Given the description of an element on the screen output the (x, y) to click on. 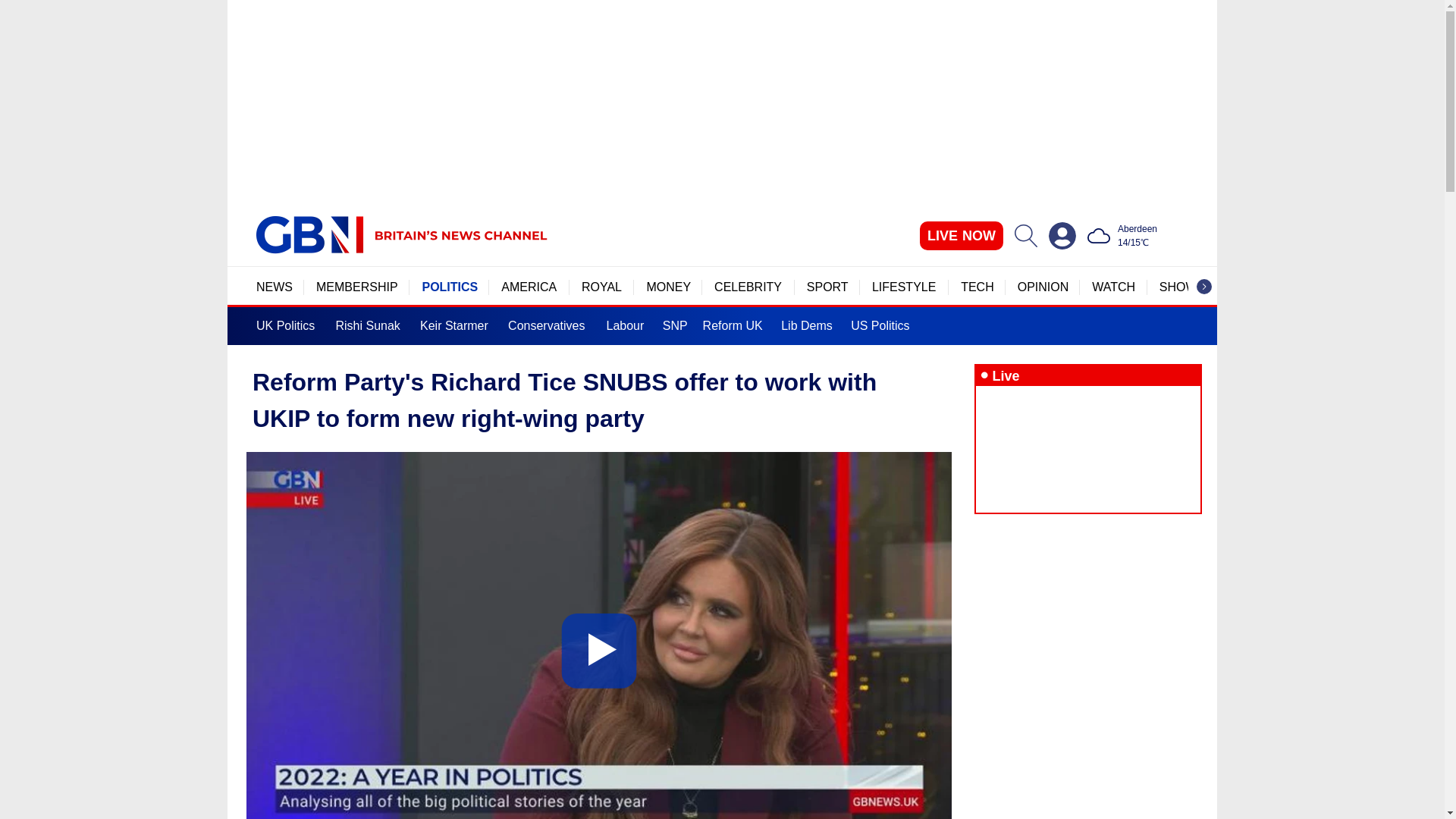
Search (1025, 235)
LIVE (961, 235)
GBN Britain's News Channel (310, 235)
